Given the description of an element on the screen output the (x, y) to click on. 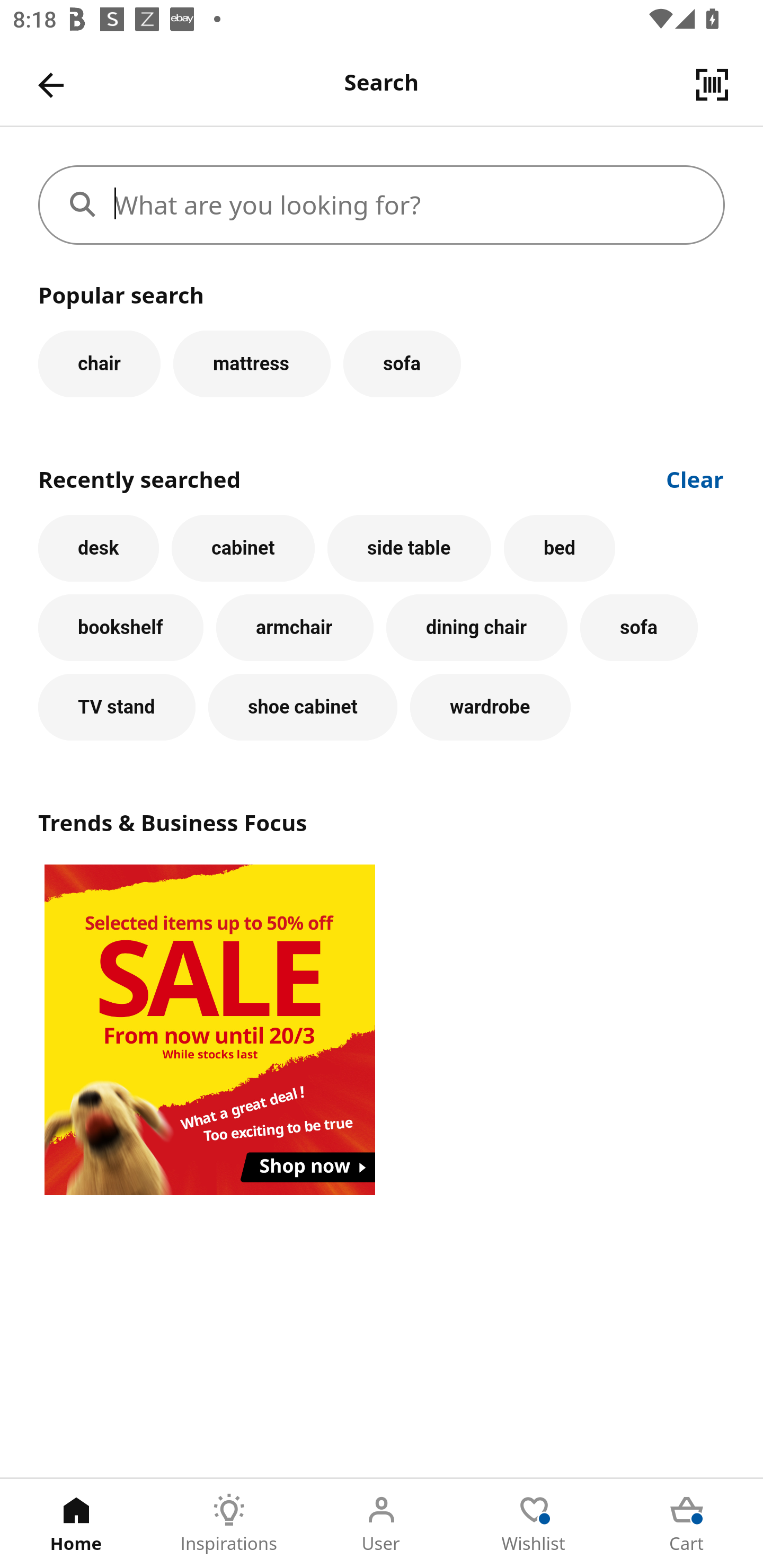
chair (99, 363)
mattress (251, 363)
sofa (401, 363)
Clear (695, 477)
desk (98, 547)
cabinet (242, 547)
side table (409, 547)
bed (558, 547)
bookshelf (120, 627)
armchair (294, 627)
dining chair (476, 627)
sofa (638, 627)
TV stand (116, 707)
shoe cabinet (302, 707)
wardrobe (490, 707)
Home
Tab 1 of 5 (76, 1522)
Inspirations
Tab 2 of 5 (228, 1522)
User
Tab 3 of 5 (381, 1522)
Wishlist
Tab 4 of 5 (533, 1522)
Cart
Tab 5 of 5 (686, 1522)
